Given the description of an element on the screen output the (x, y) to click on. 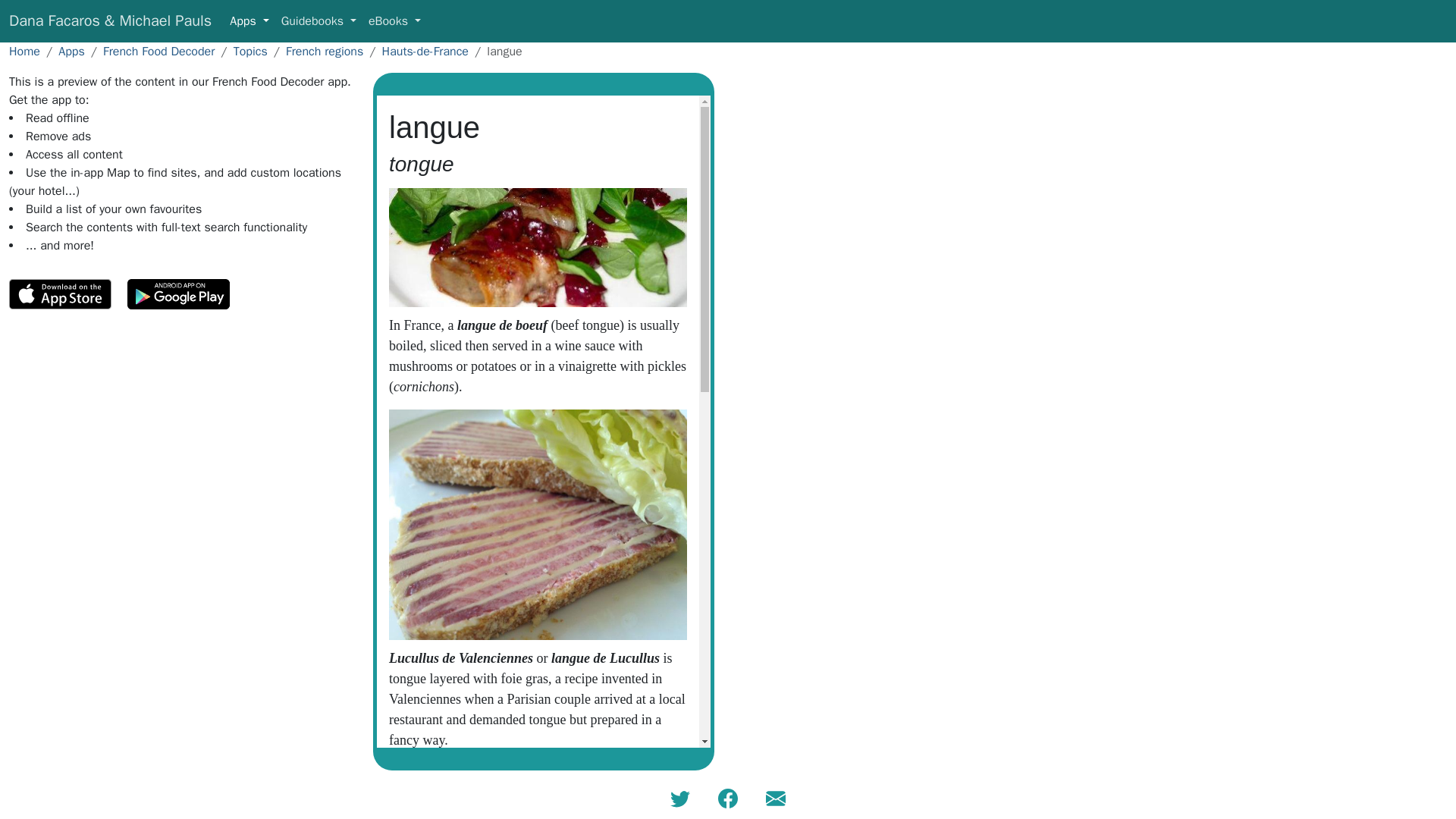
Home (24, 51)
Apps (71, 51)
eBooks (394, 20)
Guidebooks (318, 20)
Apps (249, 20)
French Food Decoder (158, 51)
Topics (249, 51)
French regions (323, 51)
Beef Tongue Pancetta (537, 247)
Hauts-de-France (424, 51)
